Given the description of an element on the screen output the (x, y) to click on. 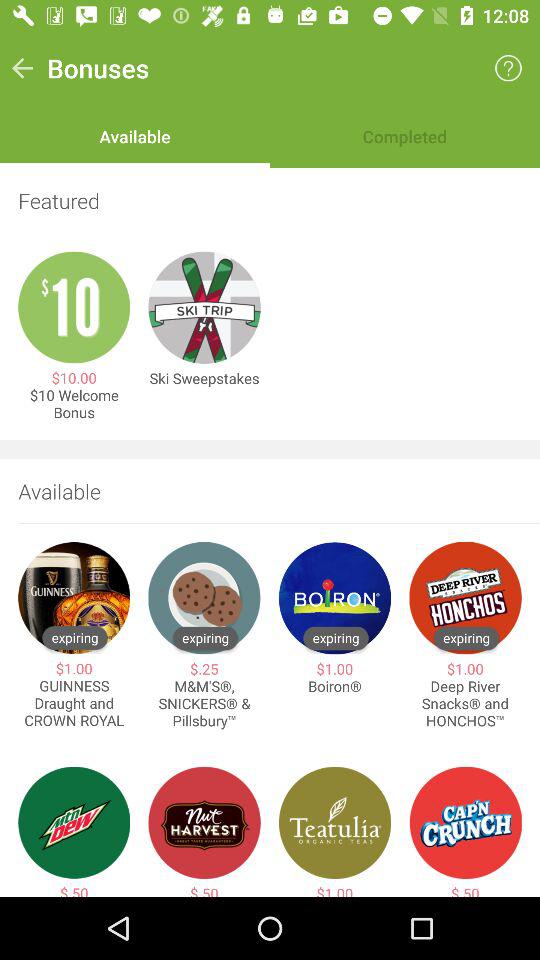
click icon above the featured item (508, 67)
